Given the description of an element on the screen output the (x, y) to click on. 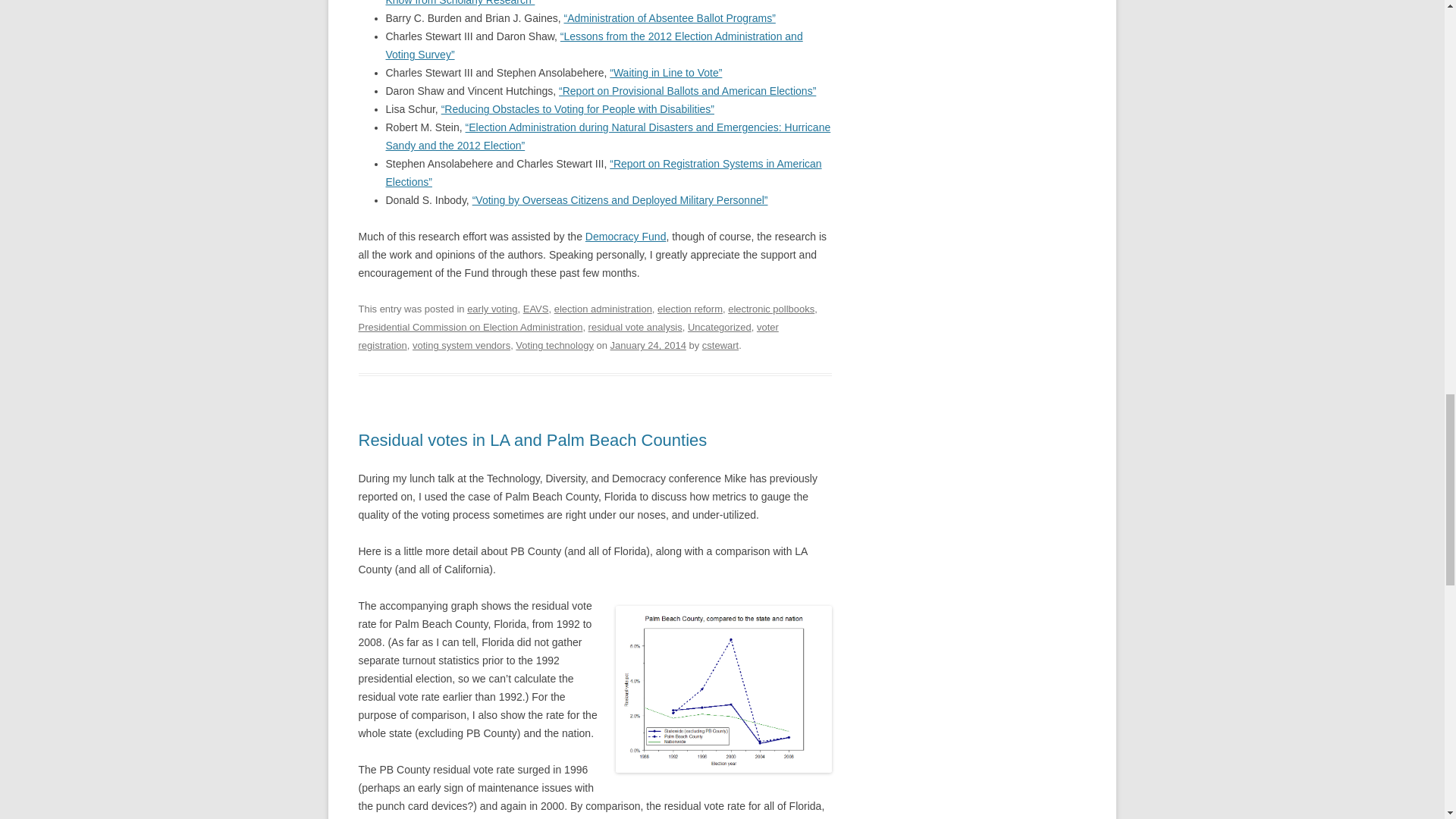
Presidential Commission on Election Administration (470, 326)
EAVS (535, 308)
electronic pollbooks (770, 308)
Uncategorized (719, 326)
View all posts by cstewart (719, 345)
Democracy Fund (625, 236)
election administration (603, 308)
early voting (491, 308)
residual vote analysis (635, 326)
election reform (690, 308)
